Given the description of an element on the screen output the (x, y) to click on. 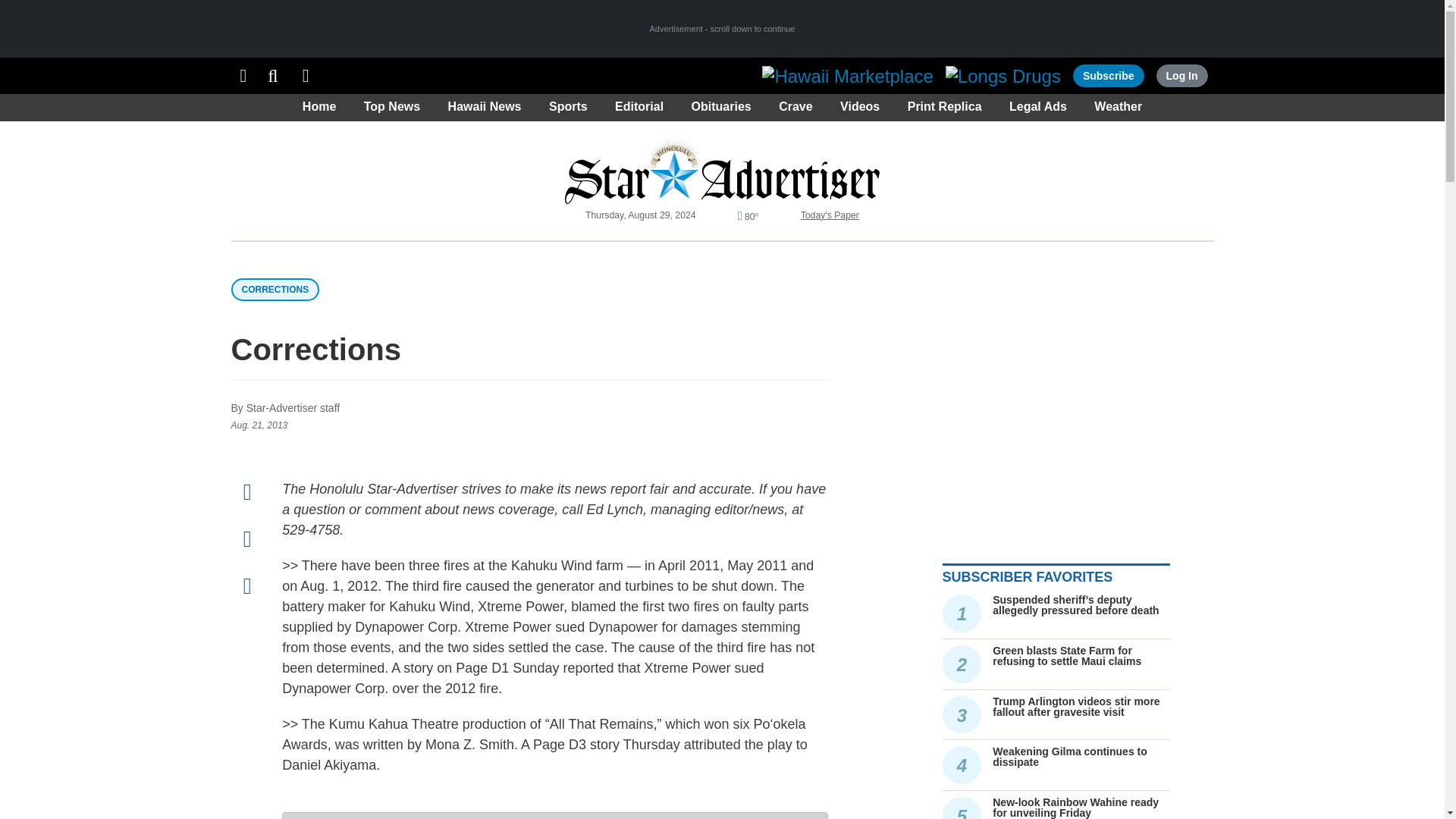
Sections (243, 75)
Print Replica (306, 75)
Honolulu Star-Advertiser (721, 169)
Log In (1182, 75)
Subscribe (1108, 75)
Green blasts State Farm for refusing to settle Maui claims (1066, 655)
Search (272, 75)
